Given the description of an element on the screen output the (x, y) to click on. 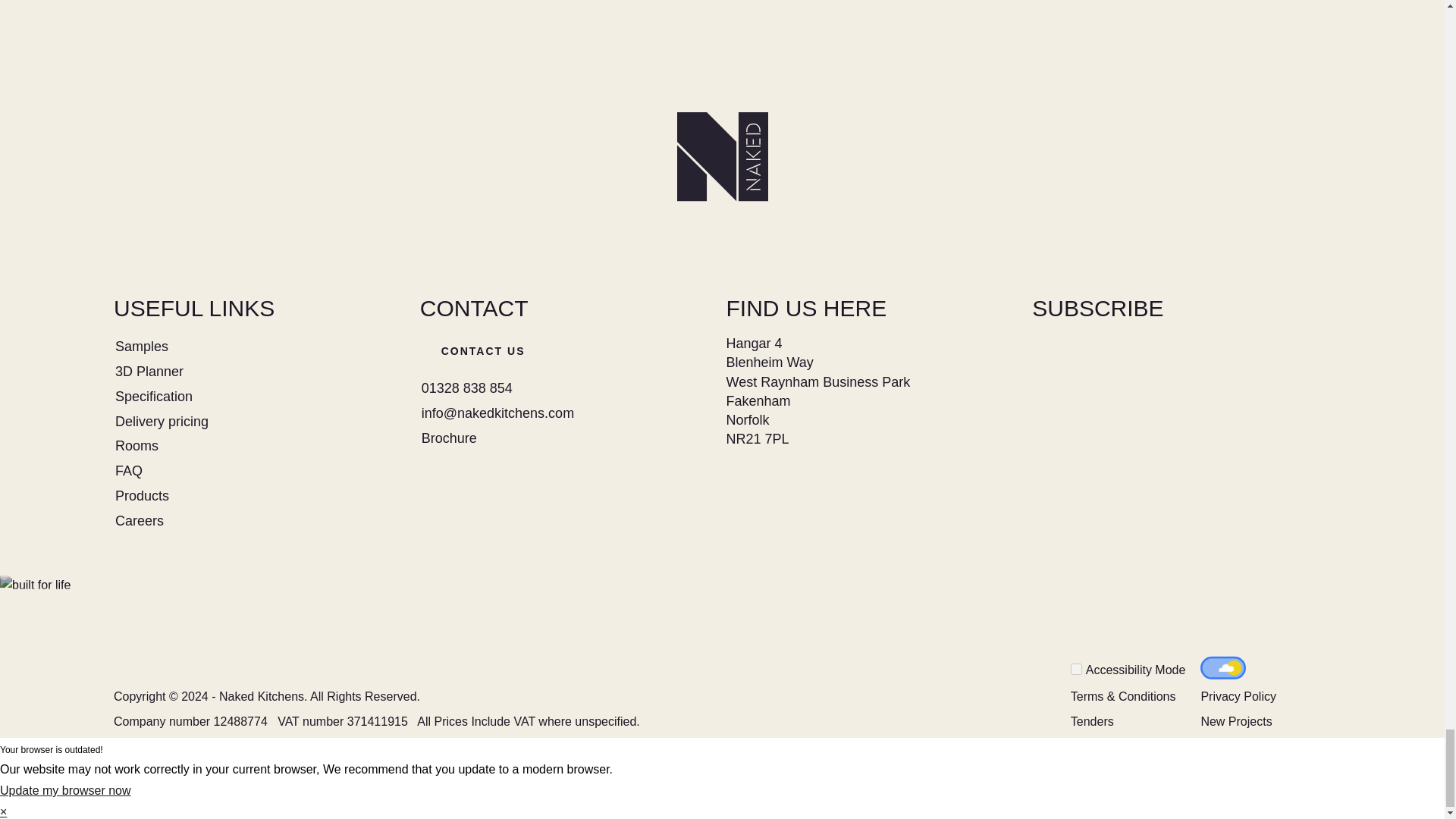
on (1075, 668)
